Given the description of an element on the screen output the (x, y) to click on. 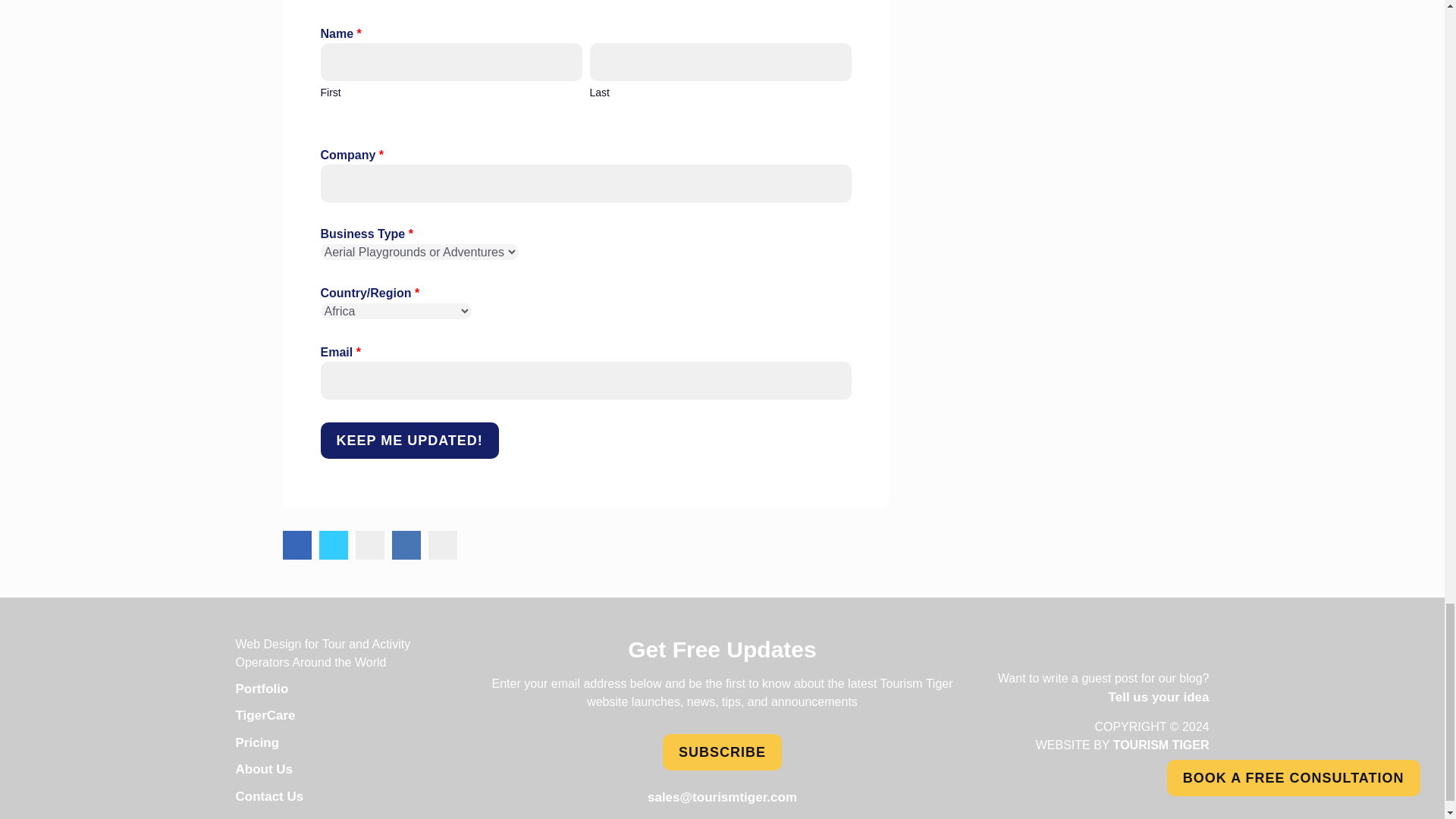
KEEP ME UPDATED! (408, 439)
Share via twitter (332, 544)
Share via linkedin (405, 544)
Share via google (442, 544)
Share via facebook (296, 544)
Share via instagram (369, 544)
